Given the description of an element on the screen output the (x, y) to click on. 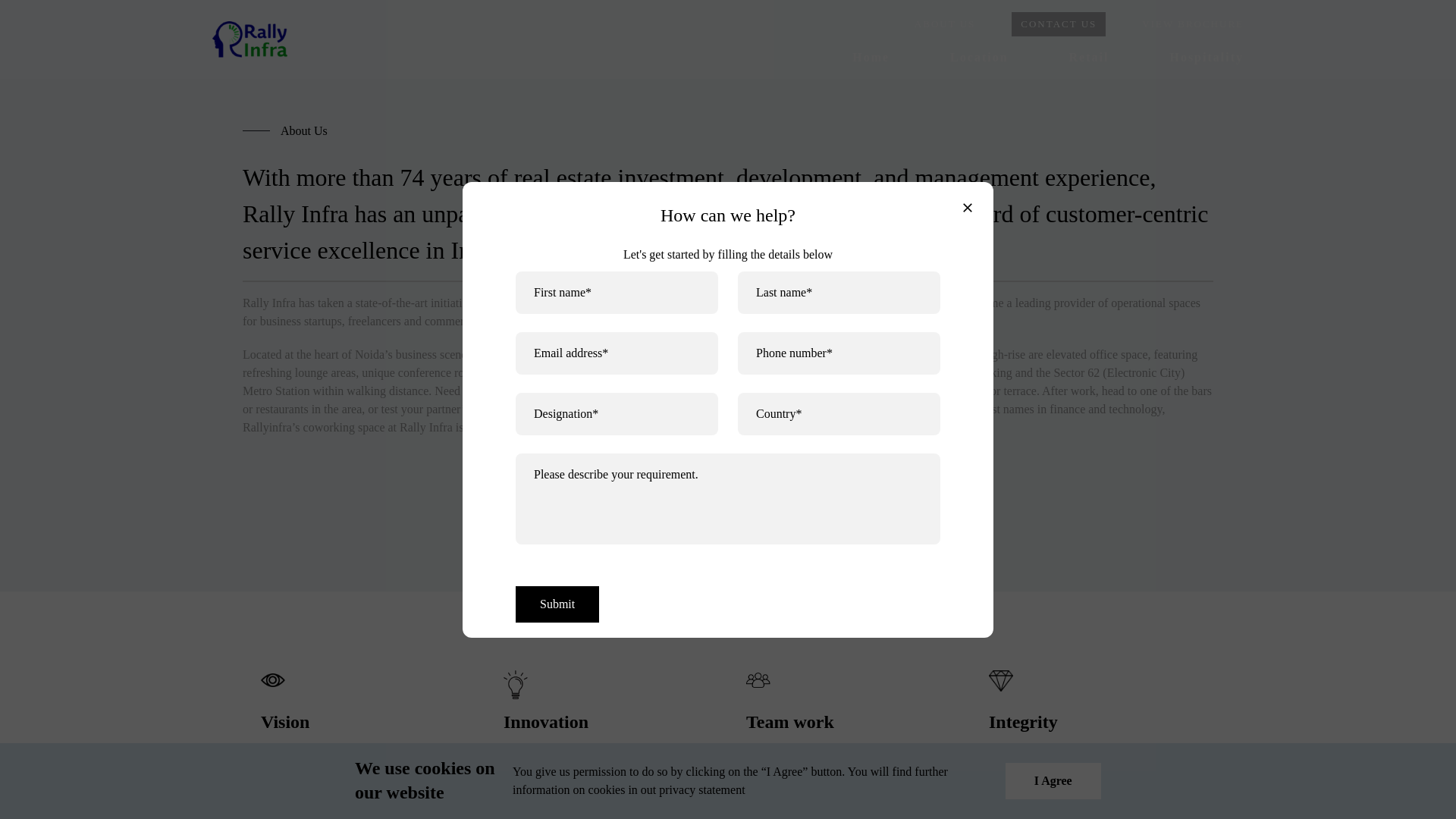
ABOUT US (944, 24)
Retail (1088, 57)
Location (978, 57)
Home (870, 57)
CONTACT US (1058, 24)
Submit (556, 603)
VIEW BROCHURE (1192, 24)
Hospitality (1206, 57)
I Agree (1053, 780)
